Given the description of an element on the screen output the (x, y) to click on. 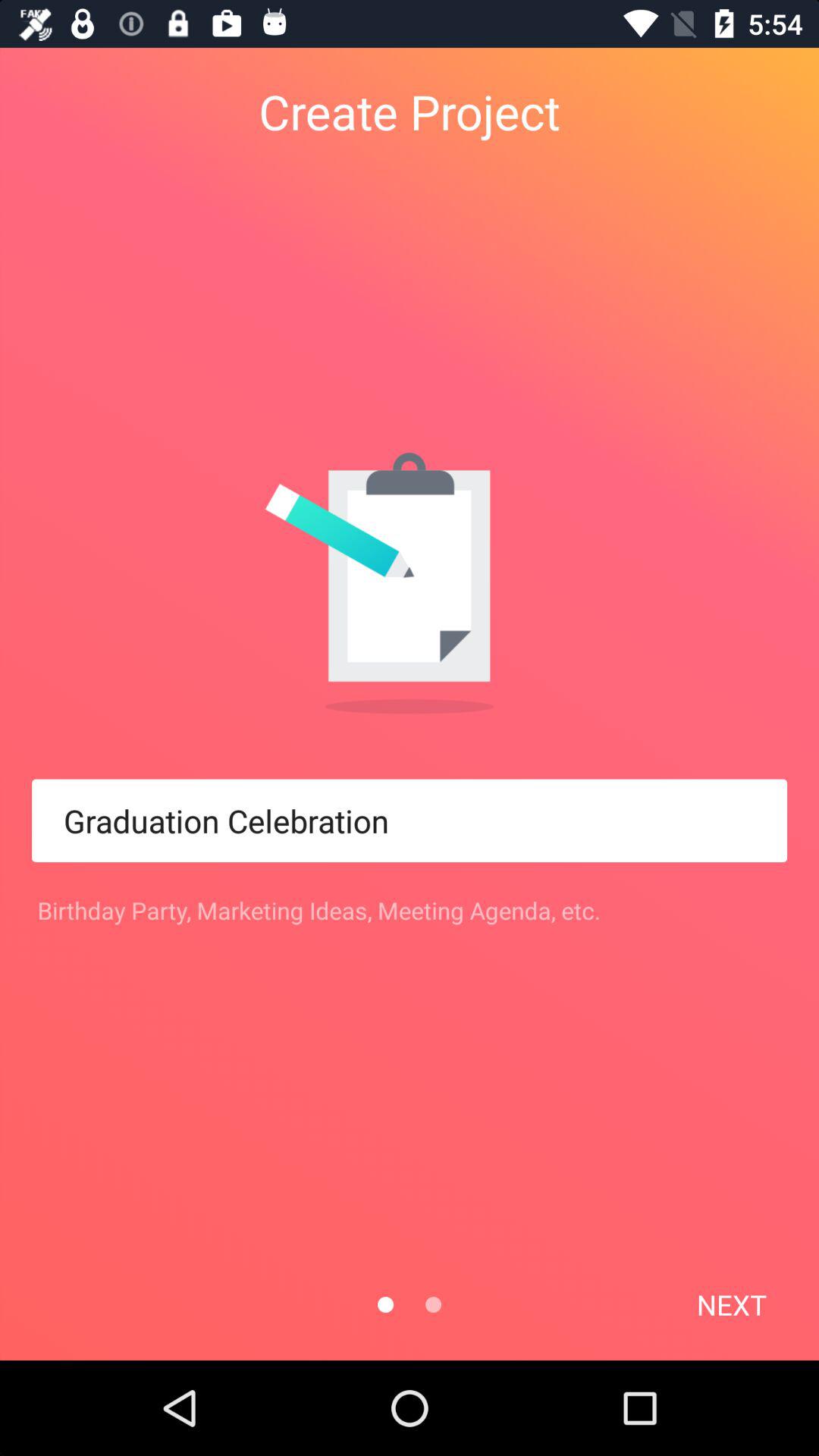
flip until next item (731, 1304)
